Given the description of an element on the screen output the (x, y) to click on. 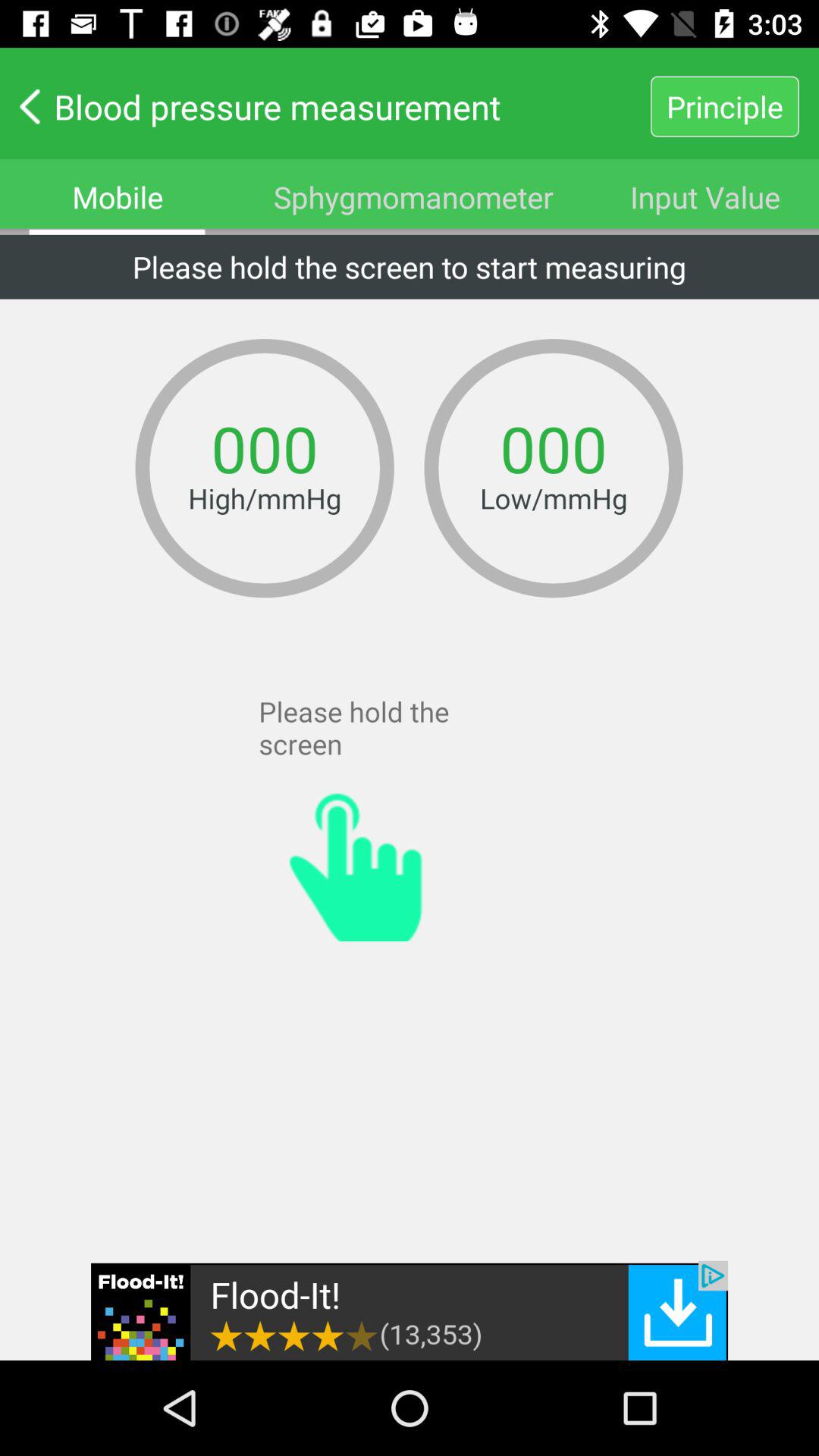
click to install different app (409, 1310)
